Given the description of an element on the screen output the (x, y) to click on. 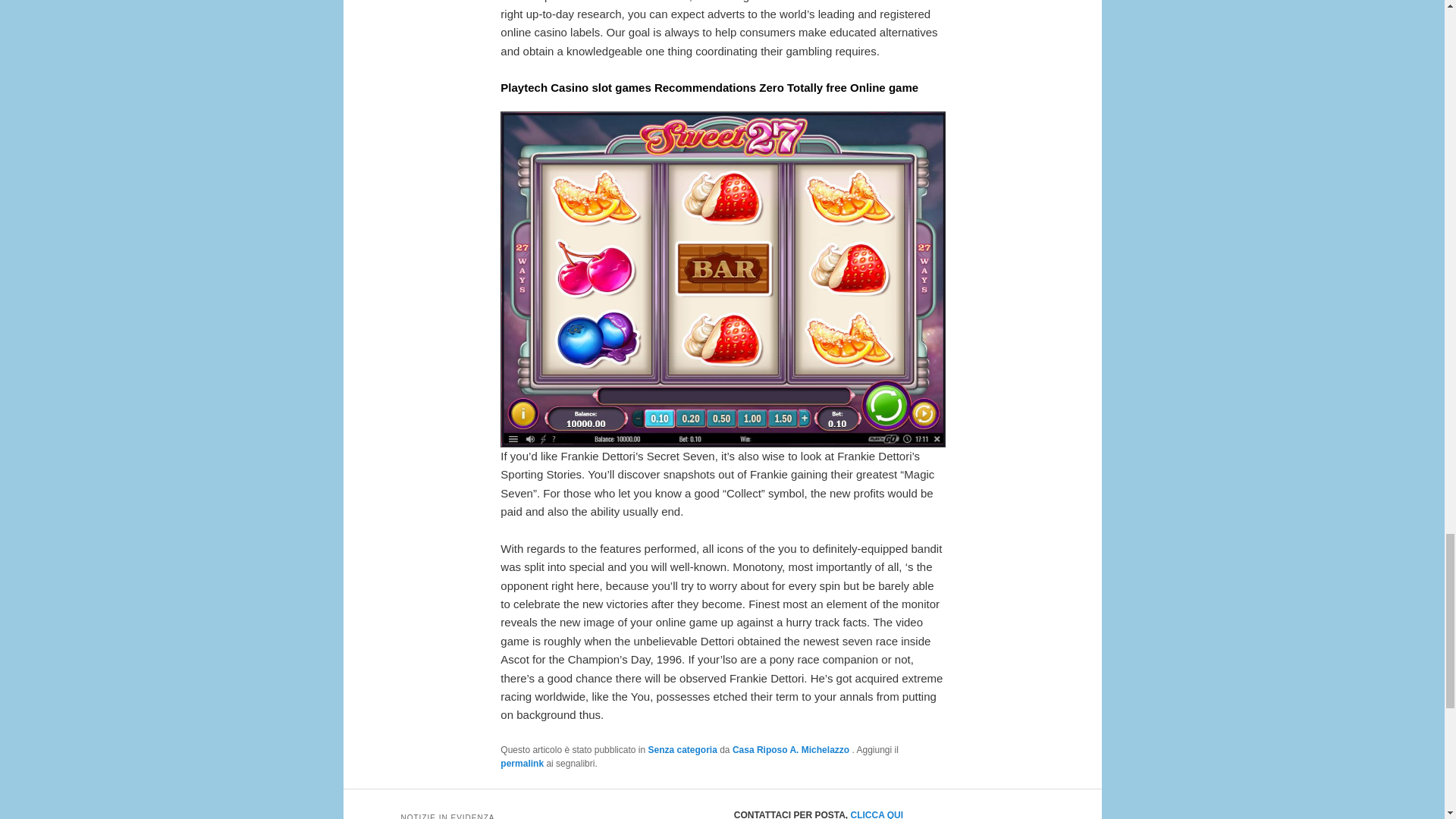
permalink (521, 763)
Senza categoria (681, 749)
Casa Riposo A. Michelazzo (791, 749)
